Given the description of an element on the screen output the (x, y) to click on. 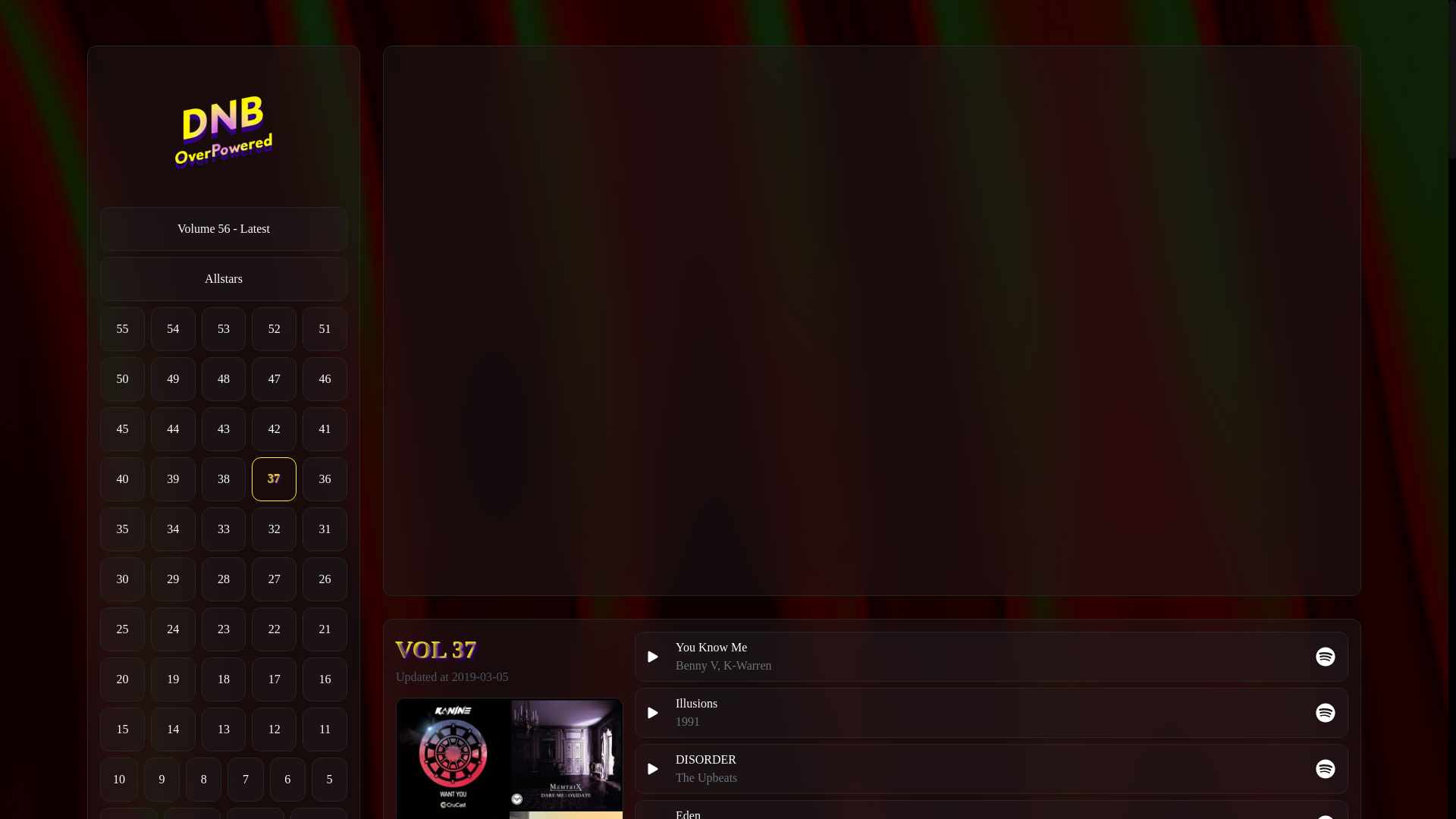
Volume 56 - Latest (223, 228)
32 (274, 528)
37 (274, 479)
20 (122, 679)
52 (274, 329)
53 (224, 329)
46 (324, 379)
41 (324, 429)
45 (122, 429)
24 (173, 629)
29 (173, 579)
34 (173, 528)
36 (324, 479)
28 (224, 579)
21 (324, 629)
